Given the description of an element on the screen output the (x, y) to click on. 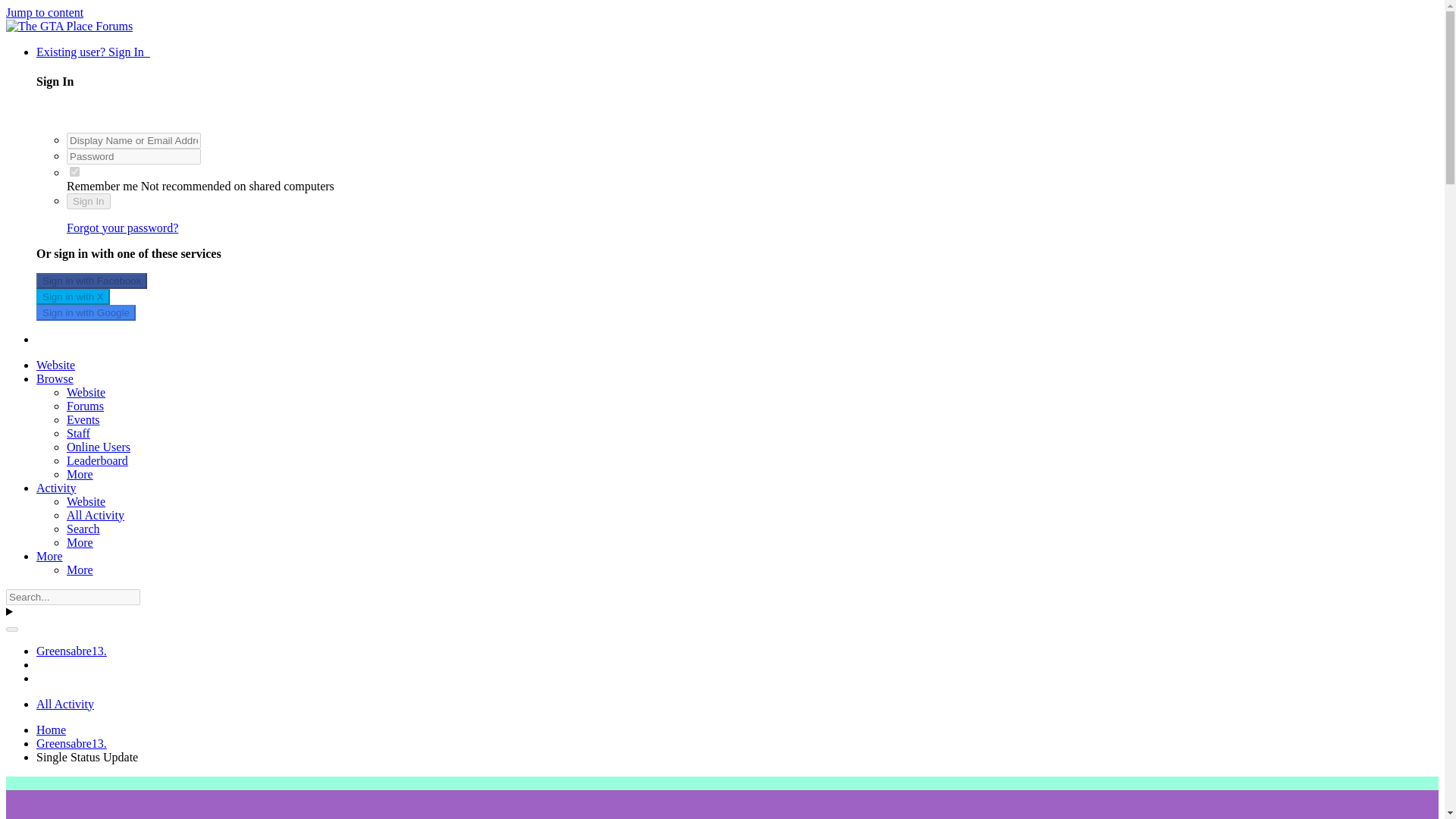
Go to main content on this page (43, 11)
Website (55, 364)
Forums (84, 405)
More (79, 473)
Online Users (98, 446)
Sign In (88, 201)
1 (74, 171)
Staff (78, 432)
Greensabre13. (71, 650)
Jump to content (43, 11)
All Activity (94, 514)
Search (83, 528)
Home (50, 729)
Browse (55, 378)
All Activity (65, 703)
